Given the description of an element on the screen output the (x, y) to click on. 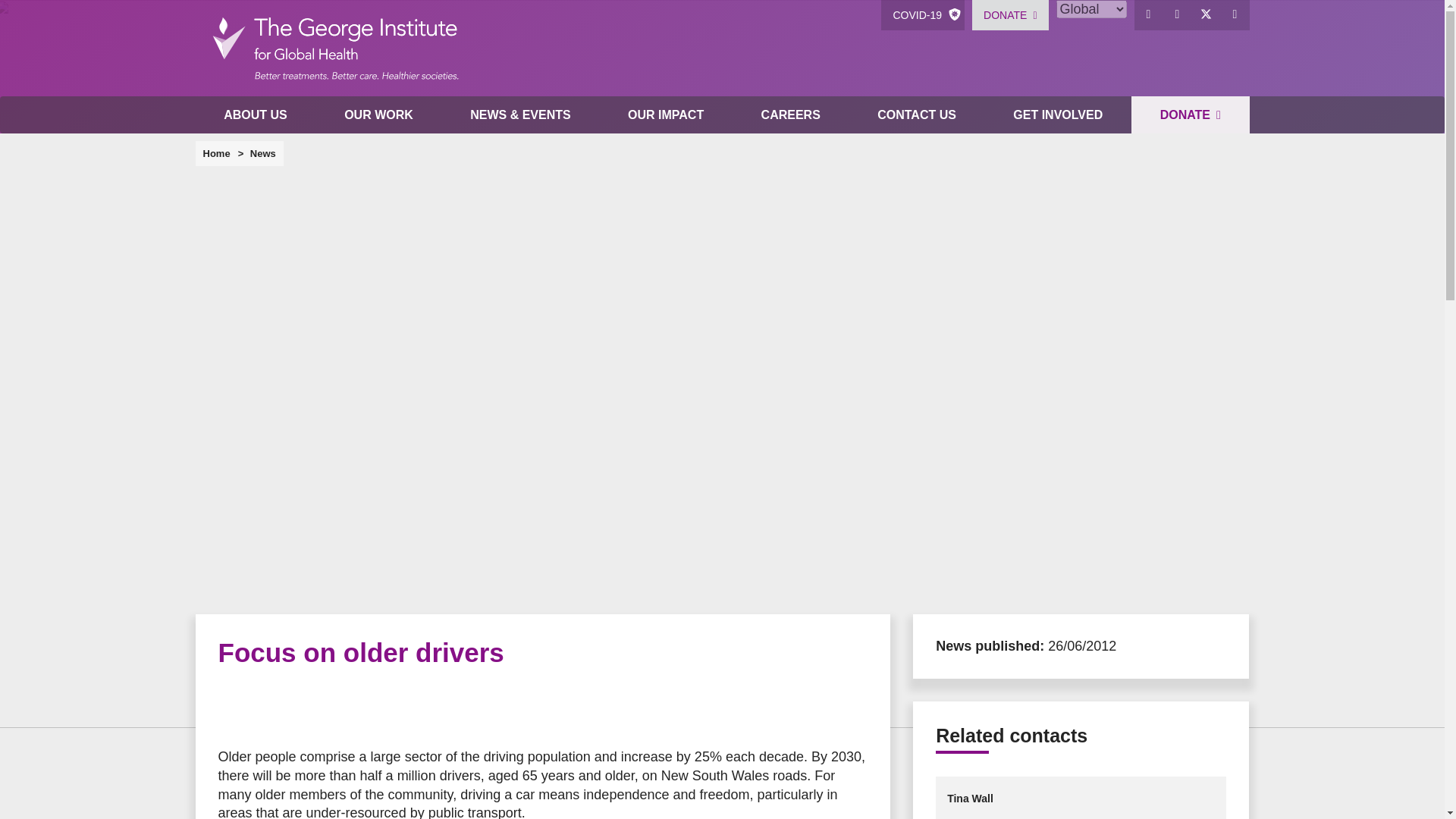
Facebook (1148, 15)
COVID-19 (921, 15)
Share to Linkedin (324, 708)
Home (334, 48)
ABOUT US (255, 114)
LinkedIn (1177, 15)
OUR WORK (378, 114)
Twitter (1206, 15)
Skip to main content (721, 1)
Share to Facebook (233, 708)
